Given the description of an element on the screen output the (x, y) to click on. 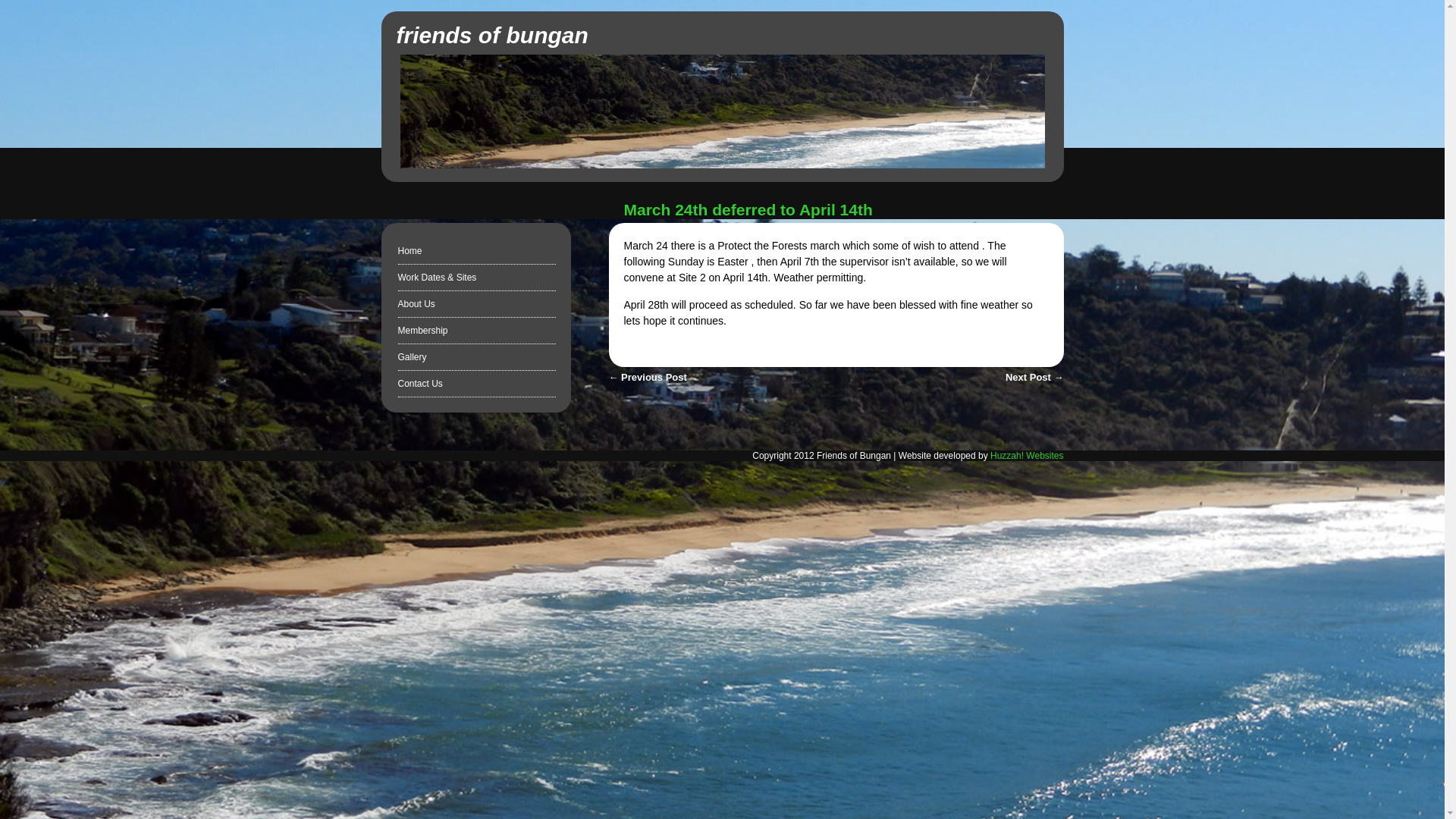
Membership (421, 330)
friends of bungan (492, 34)
Gallery (411, 357)
Friends of Bungan (722, 164)
Home (409, 250)
About Us (415, 303)
Contact Us (419, 383)
Huzzah! Websites (1027, 455)
Friends of Bungan (492, 34)
Huzzah! Websites (1027, 455)
